Given the description of an element on the screen output the (x, y) to click on. 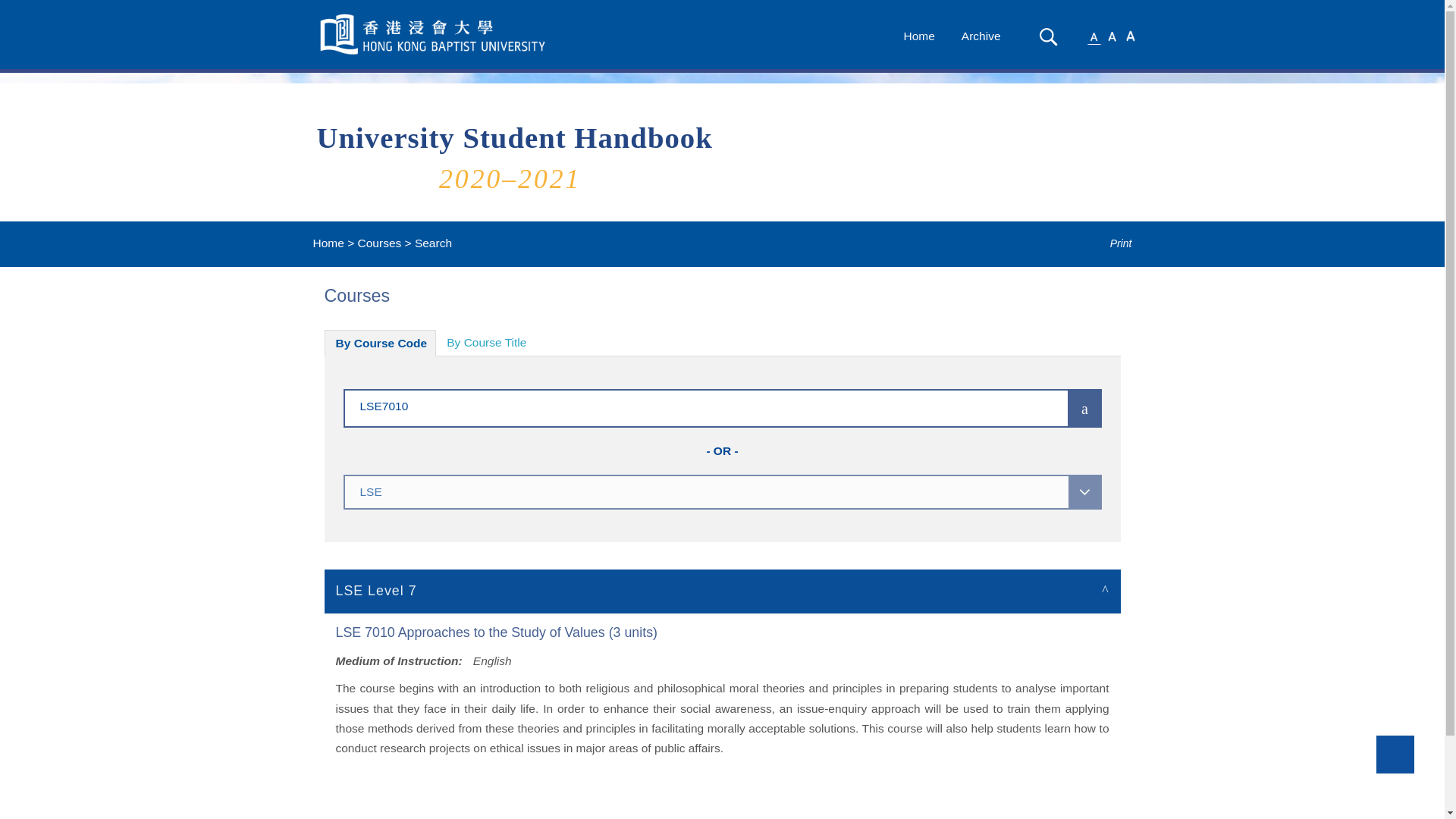
Scroll To Top (1394, 754)
large font (1129, 35)
Small Font (1093, 34)
LSE Level 7 (722, 590)
medium font (1111, 35)
Search (1047, 36)
Large Font (1129, 34)
Home (328, 242)
Use a small font (1093, 34)
Search (1048, 36)
Medium Font (1111, 34)
Print (1110, 243)
Courses (379, 242)
By Course Title (486, 342)
Scroll To Top (1394, 754)
